Given the description of an element on the screen output the (x, y) to click on. 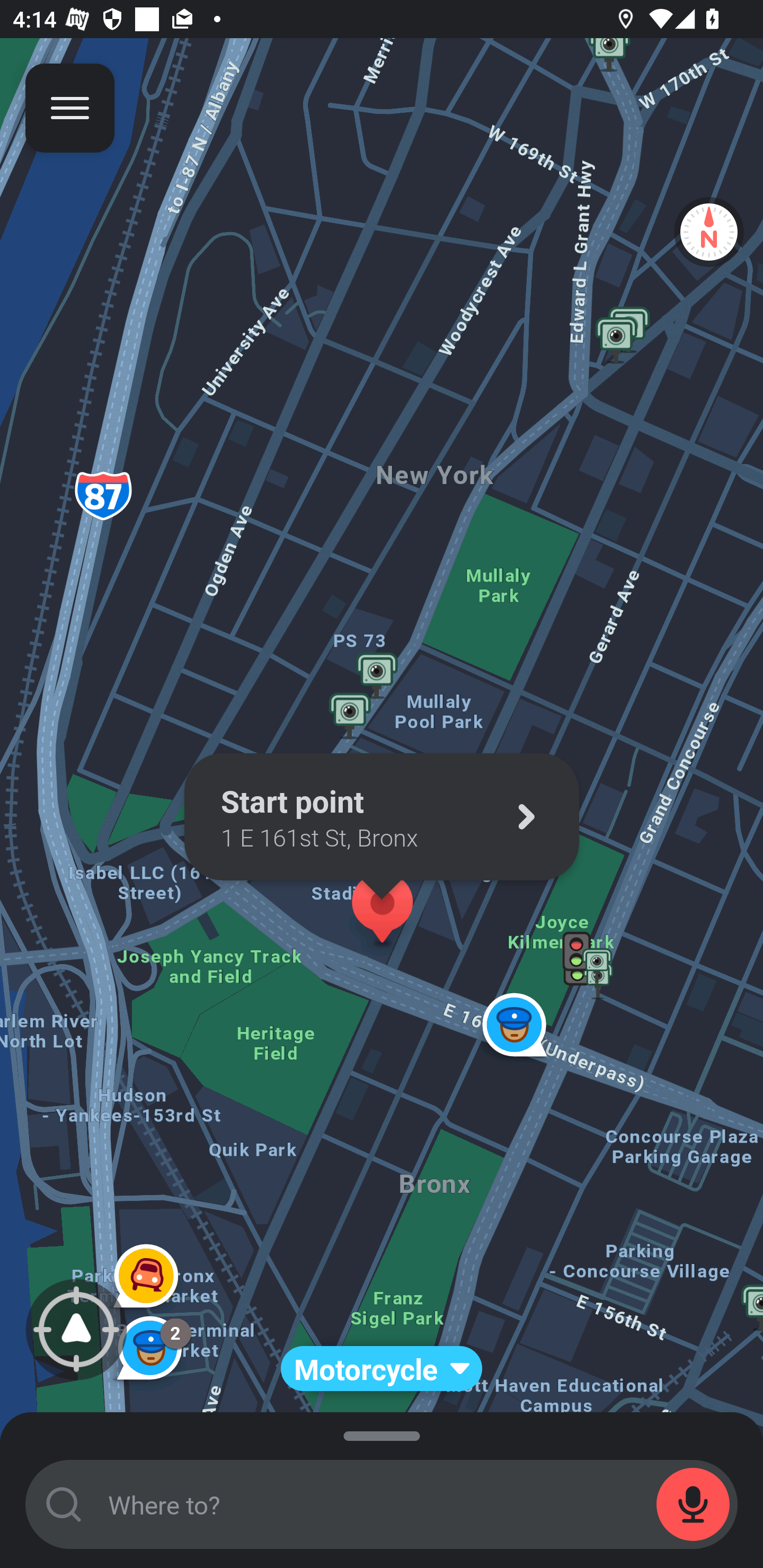
Start point 1 E 161st St, Bronx (381, 816)
Motorcycle (381, 1368)
SUGGESTIONS_SHEET_DRAG_HANDLE (381, 1432)
START_STATE_SEARCH_FIELD Where to? (381, 1504)
